Given the description of an element on the screen output the (x, y) to click on. 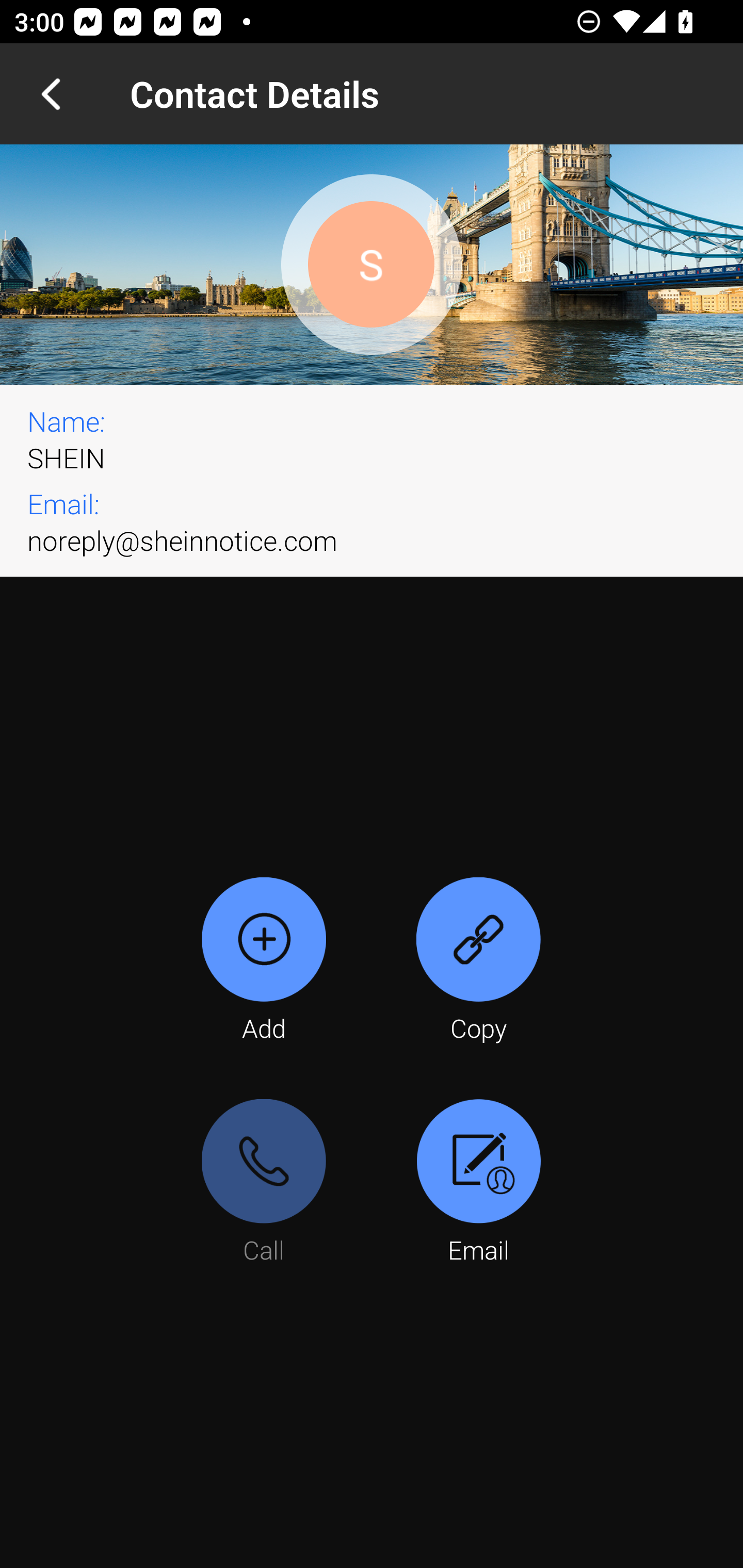
Navigate up (50, 93)
Add (264, 961)
Copy (478, 961)
Call (264, 1182)
Email (478, 1182)
